Given the description of an element on the screen output the (x, y) to click on. 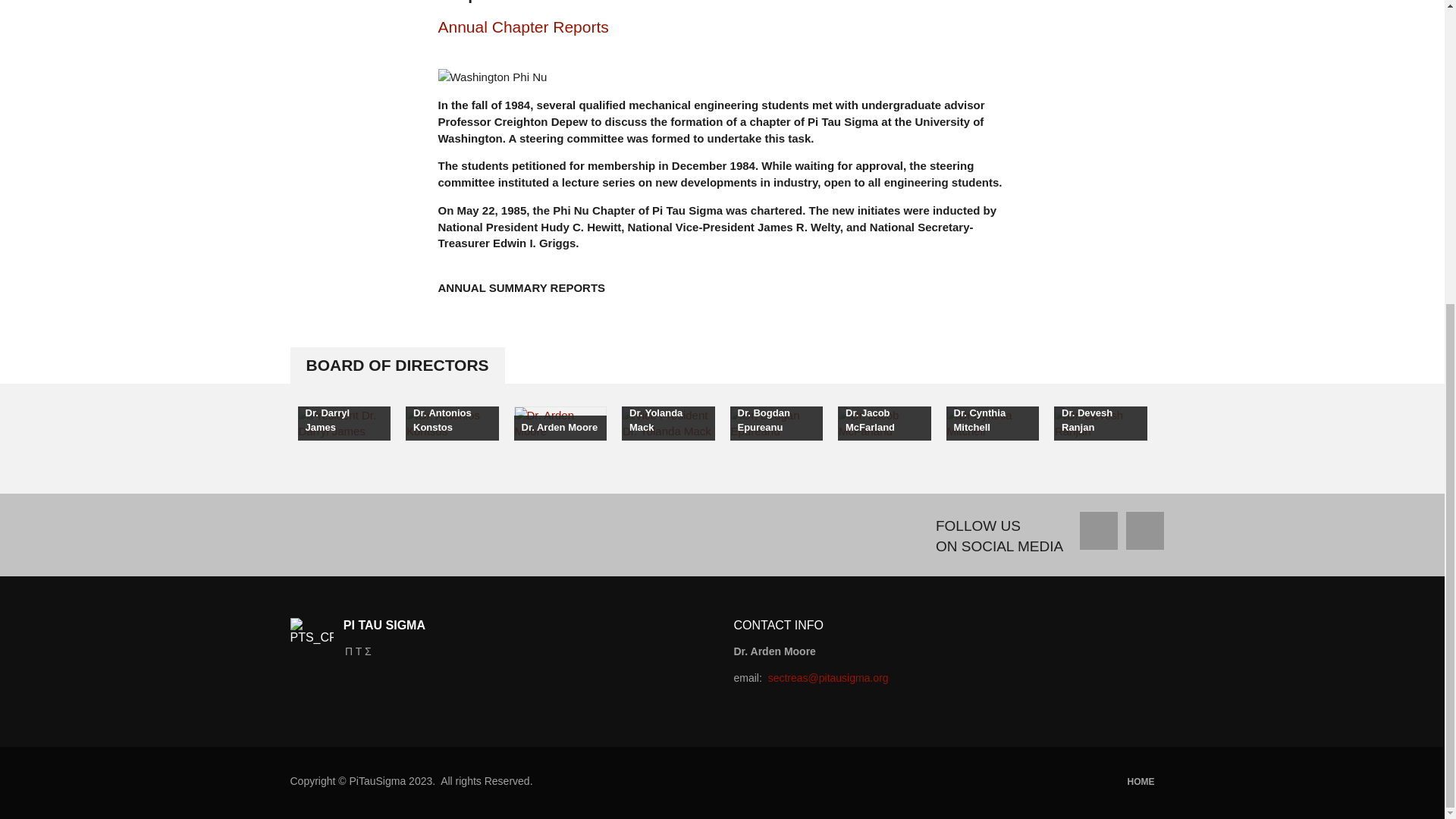
Home (1137, 781)
Dr. Bogdan Epureanu (775, 420)
Dr. Antonios Konstos (452, 420)
Dr. Yolanda Mack (667, 420)
Dr. Darryl James (343, 420)
HOME (1137, 781)
facebook (1099, 530)
Dr. Devesh Ranjan (1100, 420)
linkedin (1144, 530)
BOARD OF DIRECTORS (396, 365)
